Given the description of an element on the screen output the (x, y) to click on. 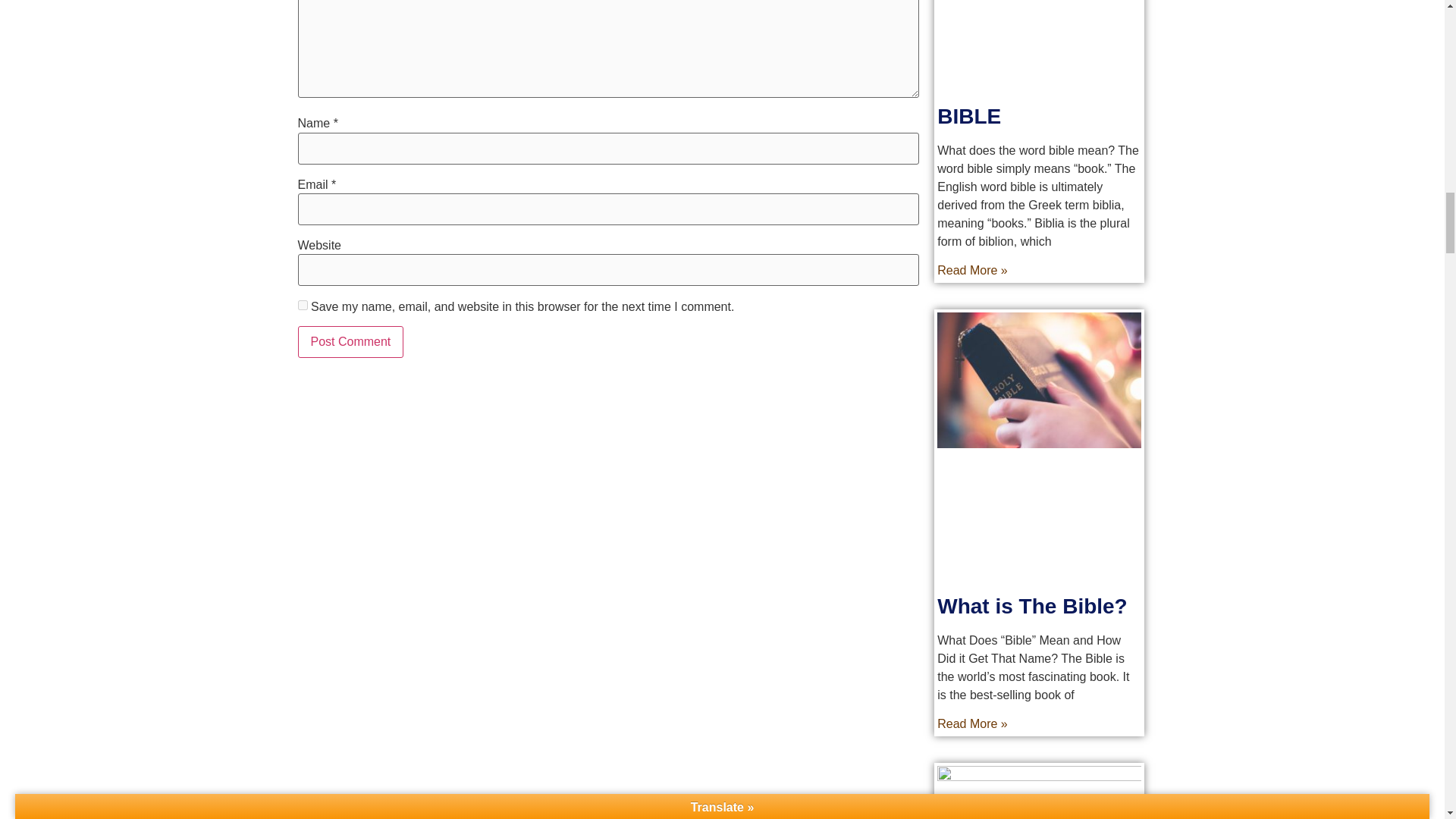
Post Comment (350, 341)
yes (302, 305)
BIBLE (969, 115)
Post Comment (350, 341)
